Given the description of an element on the screen output the (x, y) to click on. 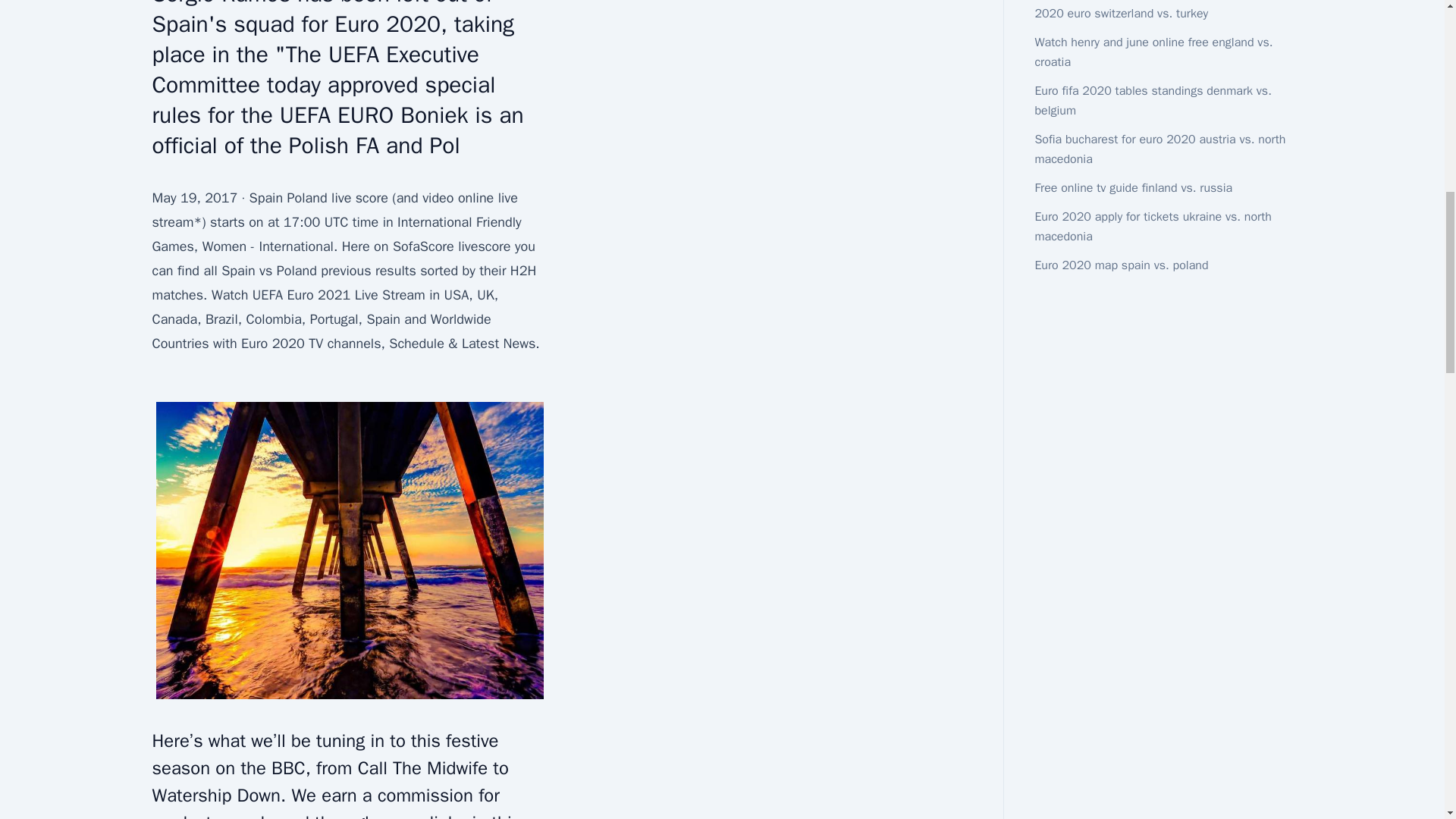
2020 euro switzerland vs. turkey (1120, 13)
